Given the description of an element on the screen output the (x, y) to click on. 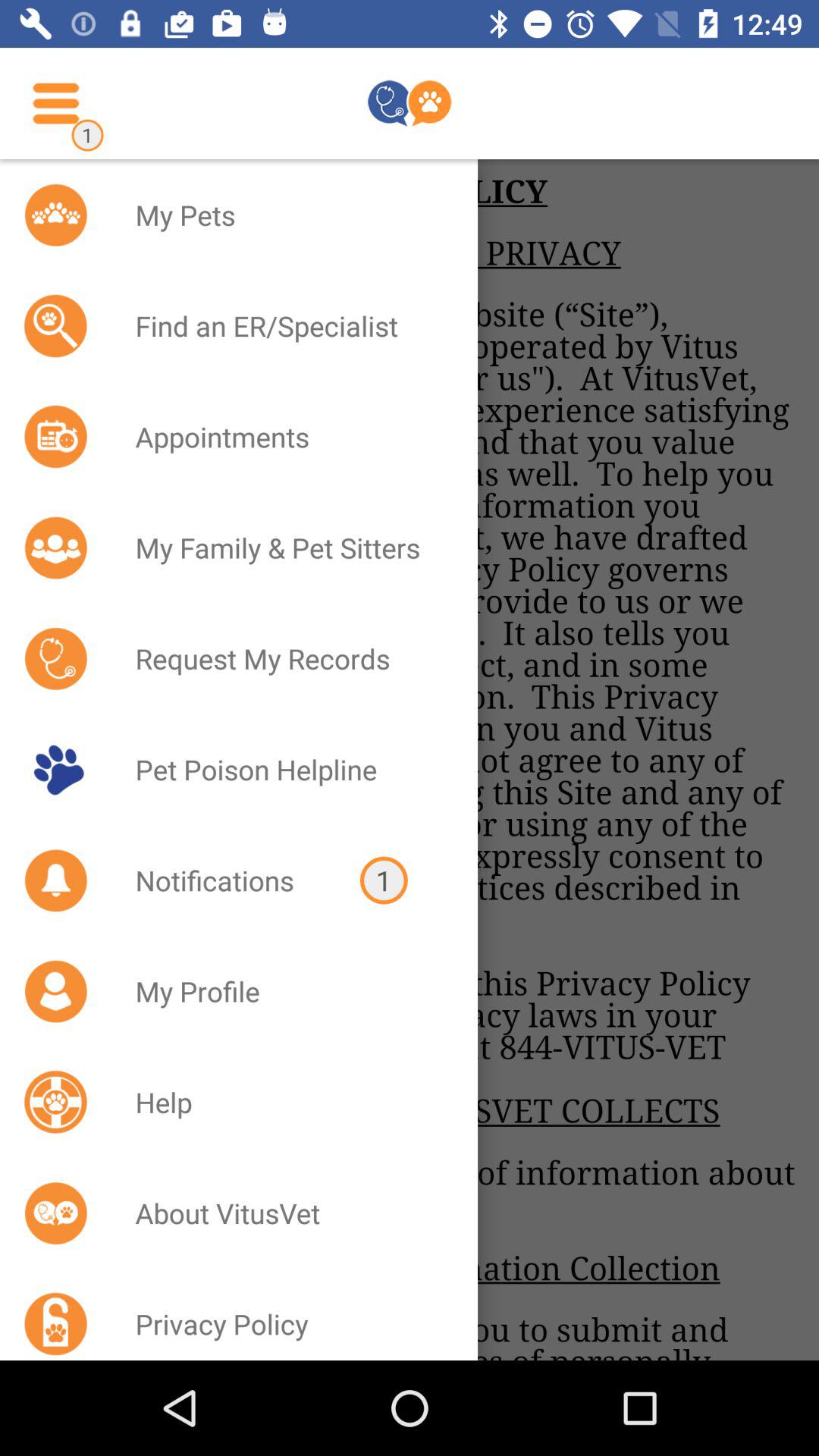
flip to my pets item (286, 214)
